Given the description of an element on the screen output the (x, y) to click on. 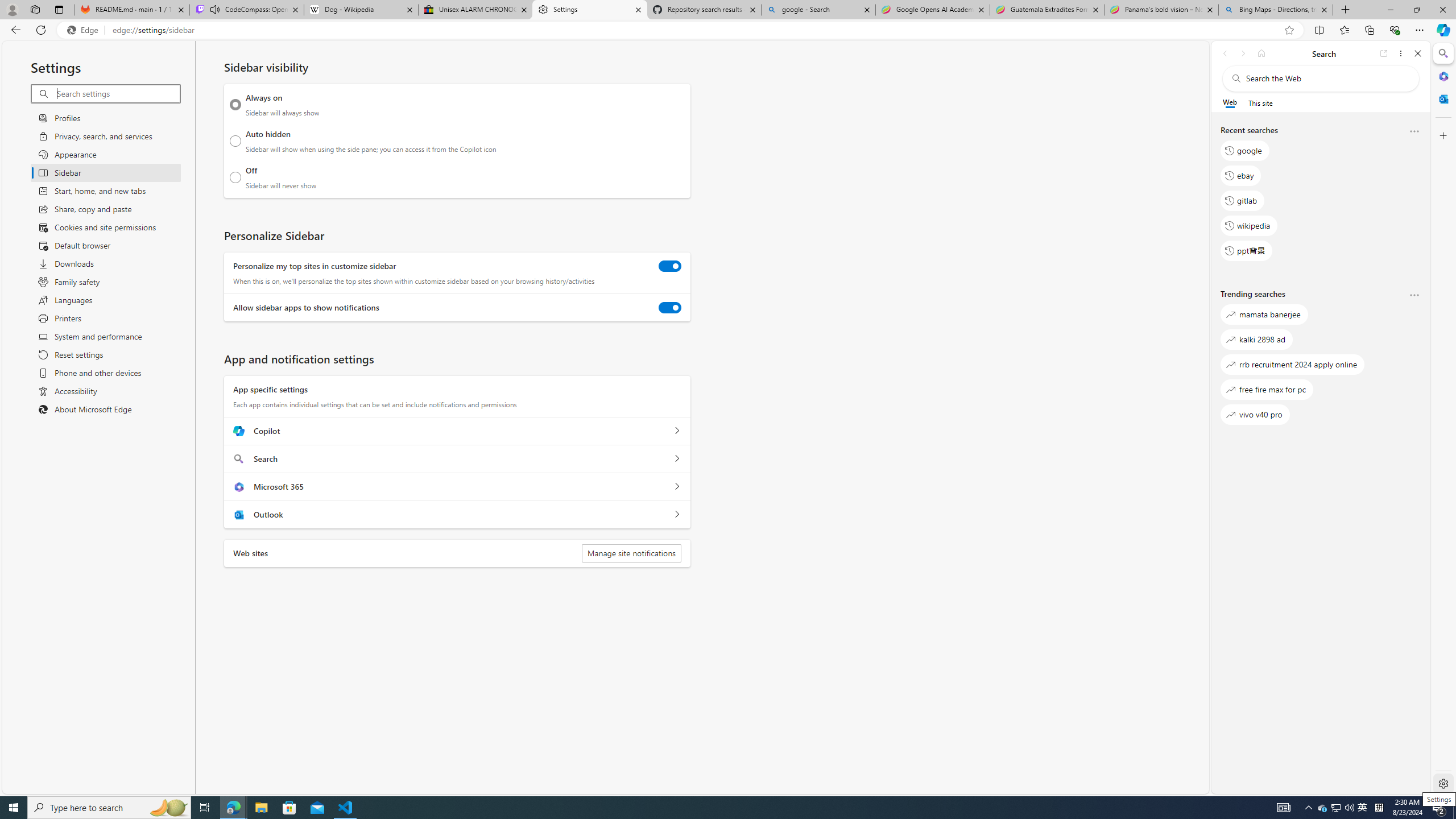
Search settings (117, 93)
rrb recruitment 2024 apply online (1292, 364)
Personalize my top sites in customize sidebar (669, 265)
Microsoft 365 (1442, 76)
Workspaces (34, 9)
free fire max for pc (1266, 389)
Copilot (676, 430)
Outlook (1442, 98)
More options (1414, 296)
